Given the description of an element on the screen output the (x, y) to click on. 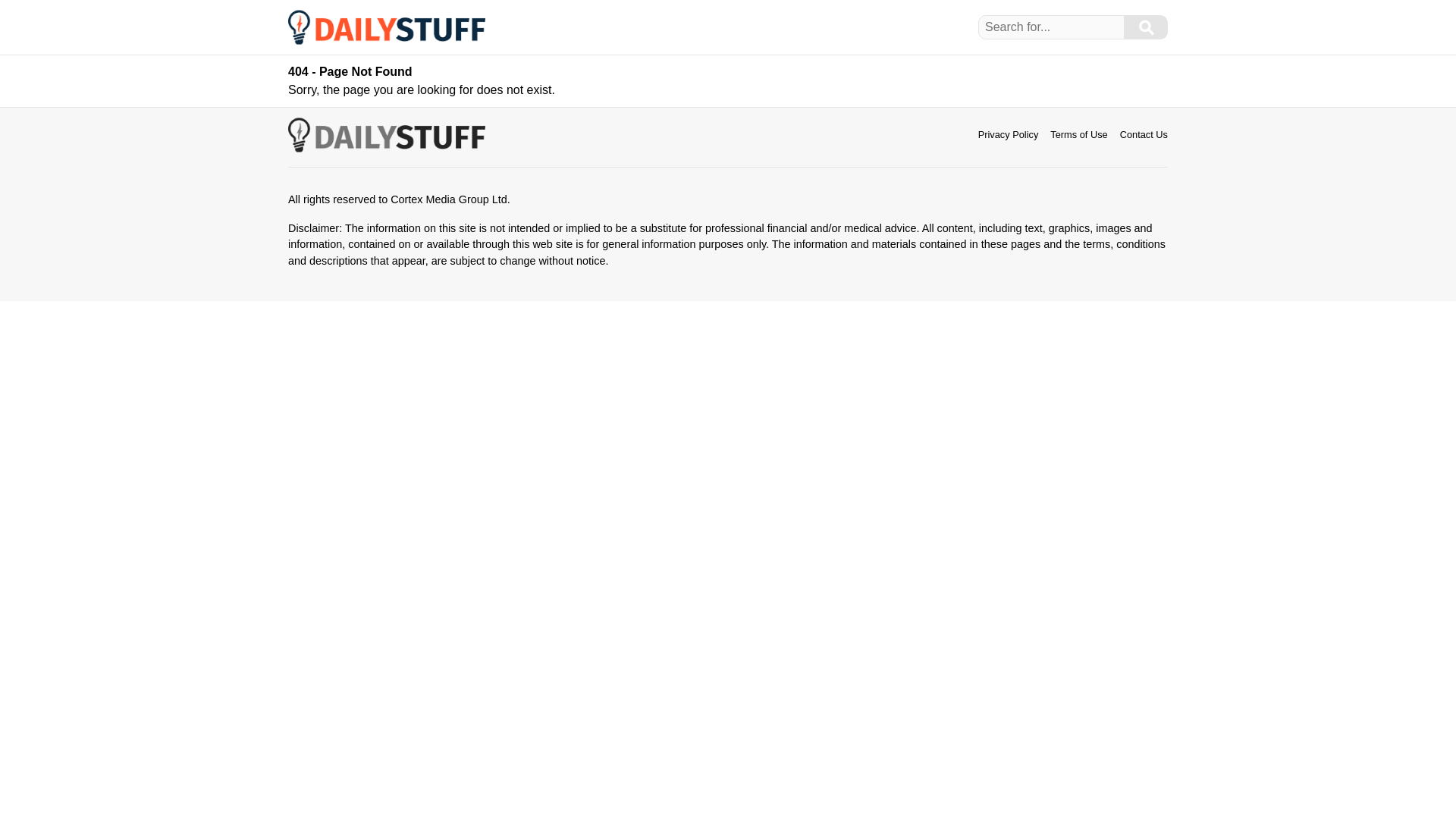
Terms of Use (1077, 134)
Contact Us (1143, 134)
Privacy Policy (1008, 134)
